Given the description of an element on the screen output the (x, y) to click on. 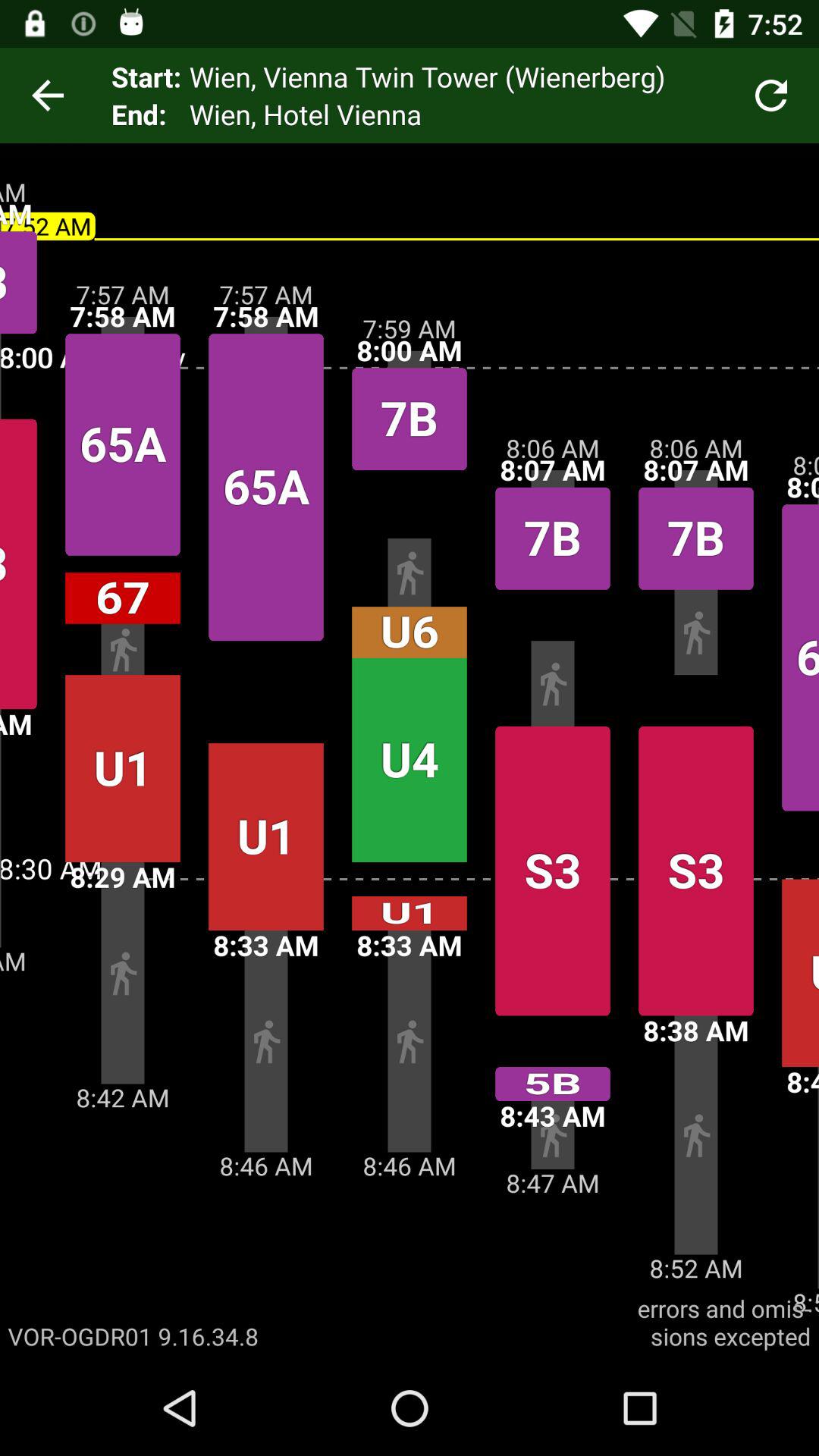
turn off the icon next to wien vienna twin icon (771, 95)
